Given the description of an element on the screen output the (x, y) to click on. 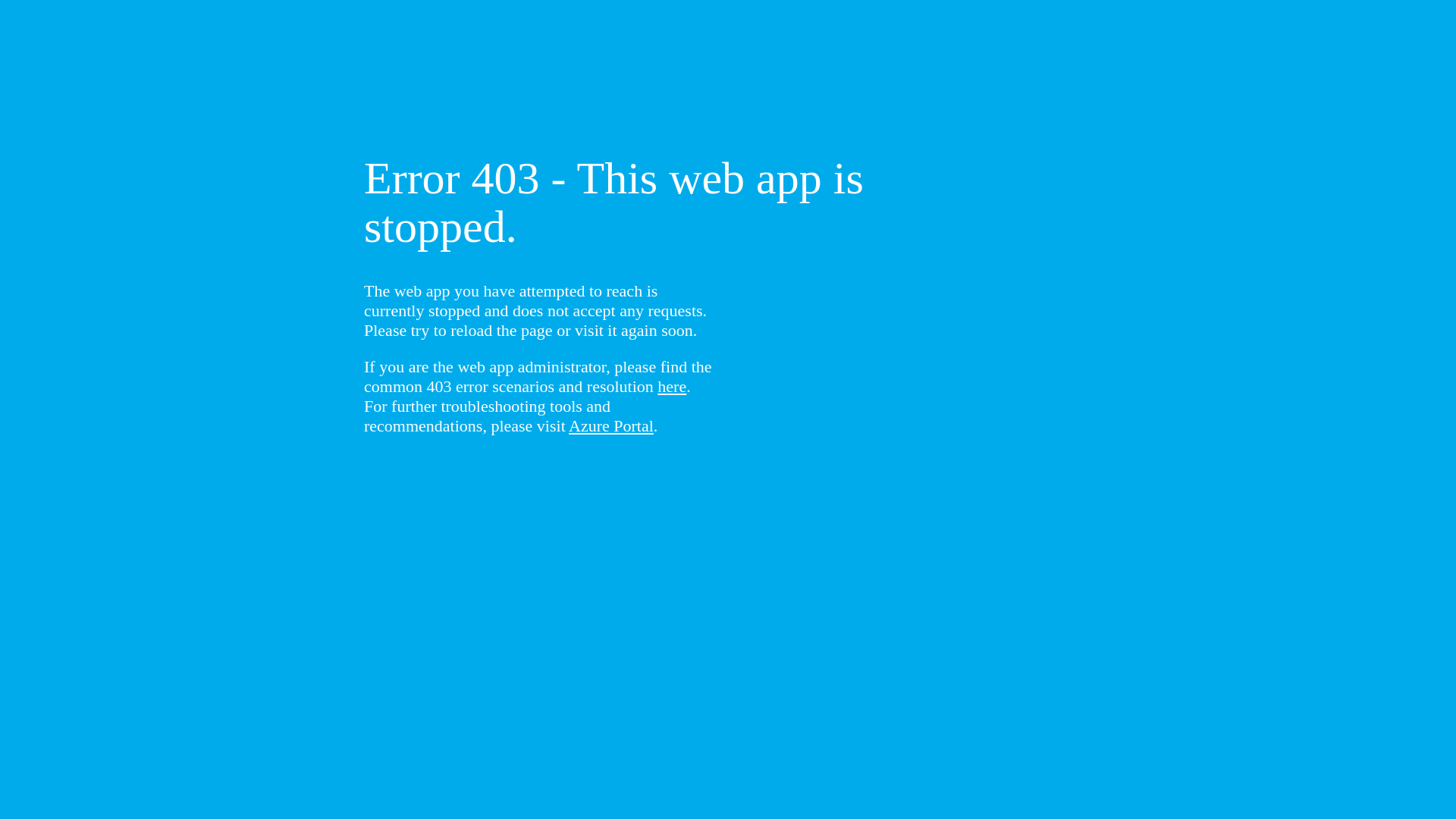
here Element type: text (671, 385)
Azure Portal Element type: text (610, 425)
